Given the description of an element on the screen output the (x, y) to click on. 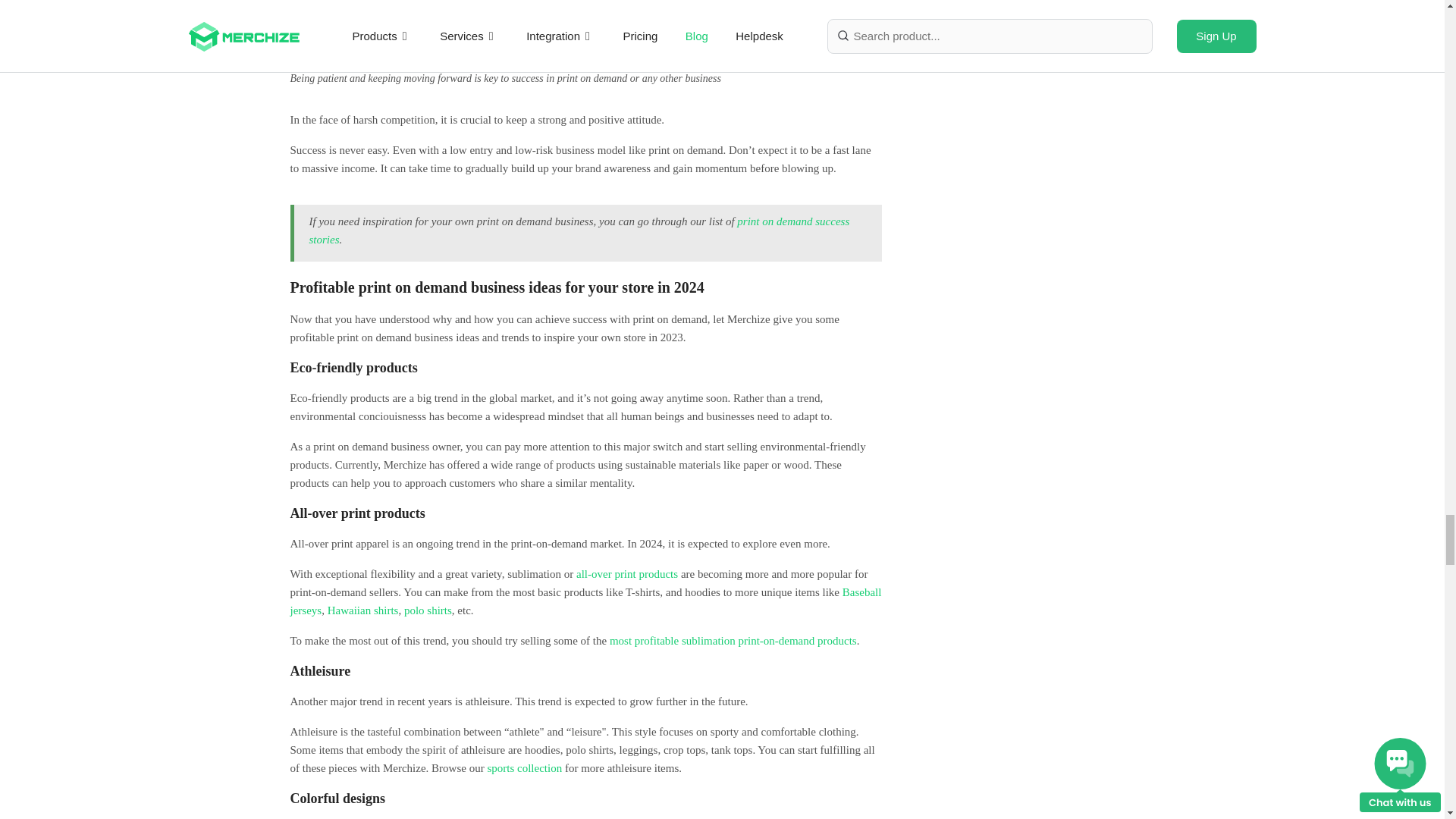
keep going sign (584, 31)
Sports Collection (524, 767)
